Given the description of an element on the screen output the (x, y) to click on. 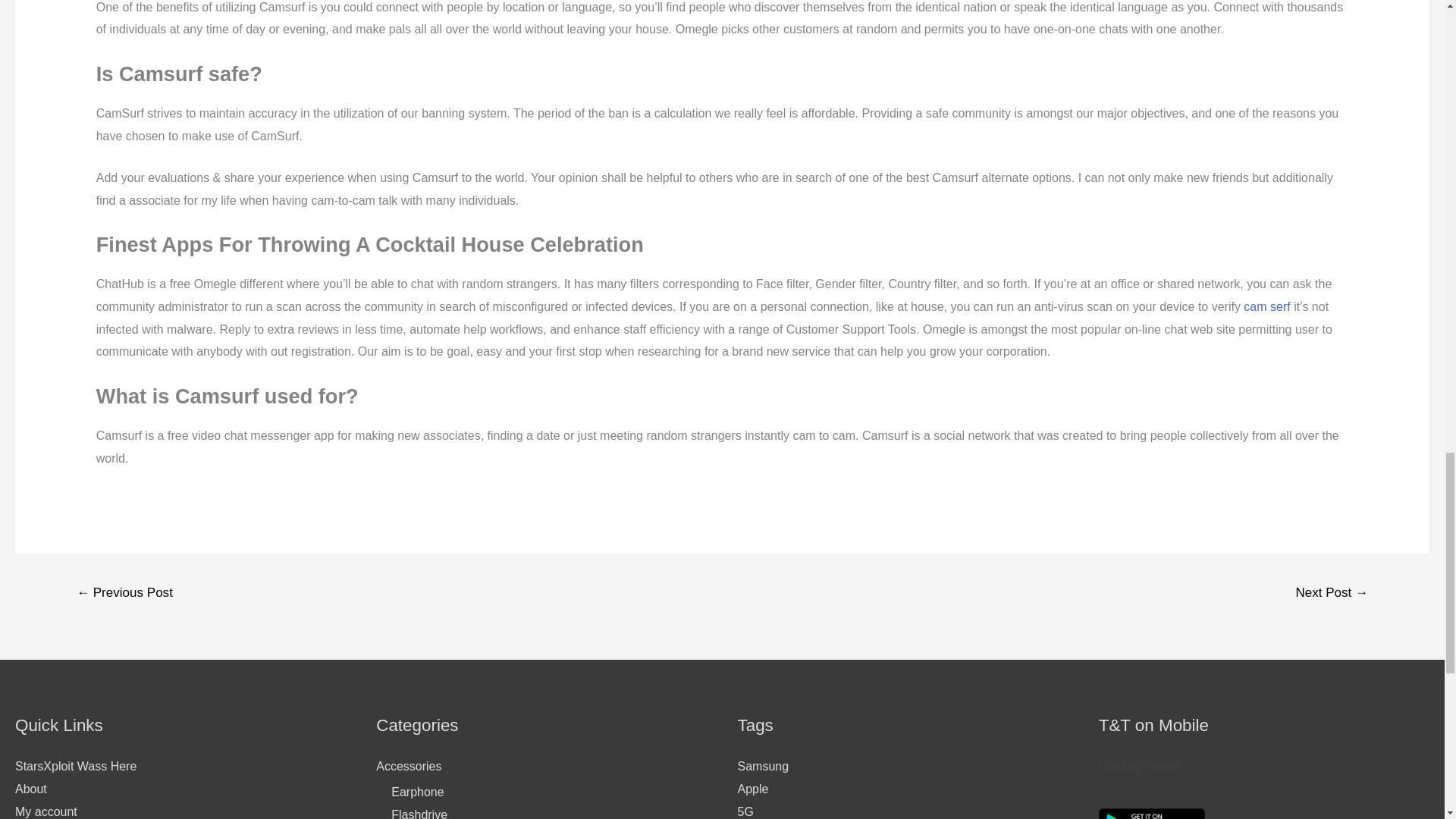
My account (45, 811)
cam serf (1266, 306)
About (30, 788)
Earphone (417, 791)
Flashdrive (418, 813)
Accessories (408, 766)
StarsXploit Wass Here (75, 766)
